Given the description of an element on the screen output the (x, y) to click on. 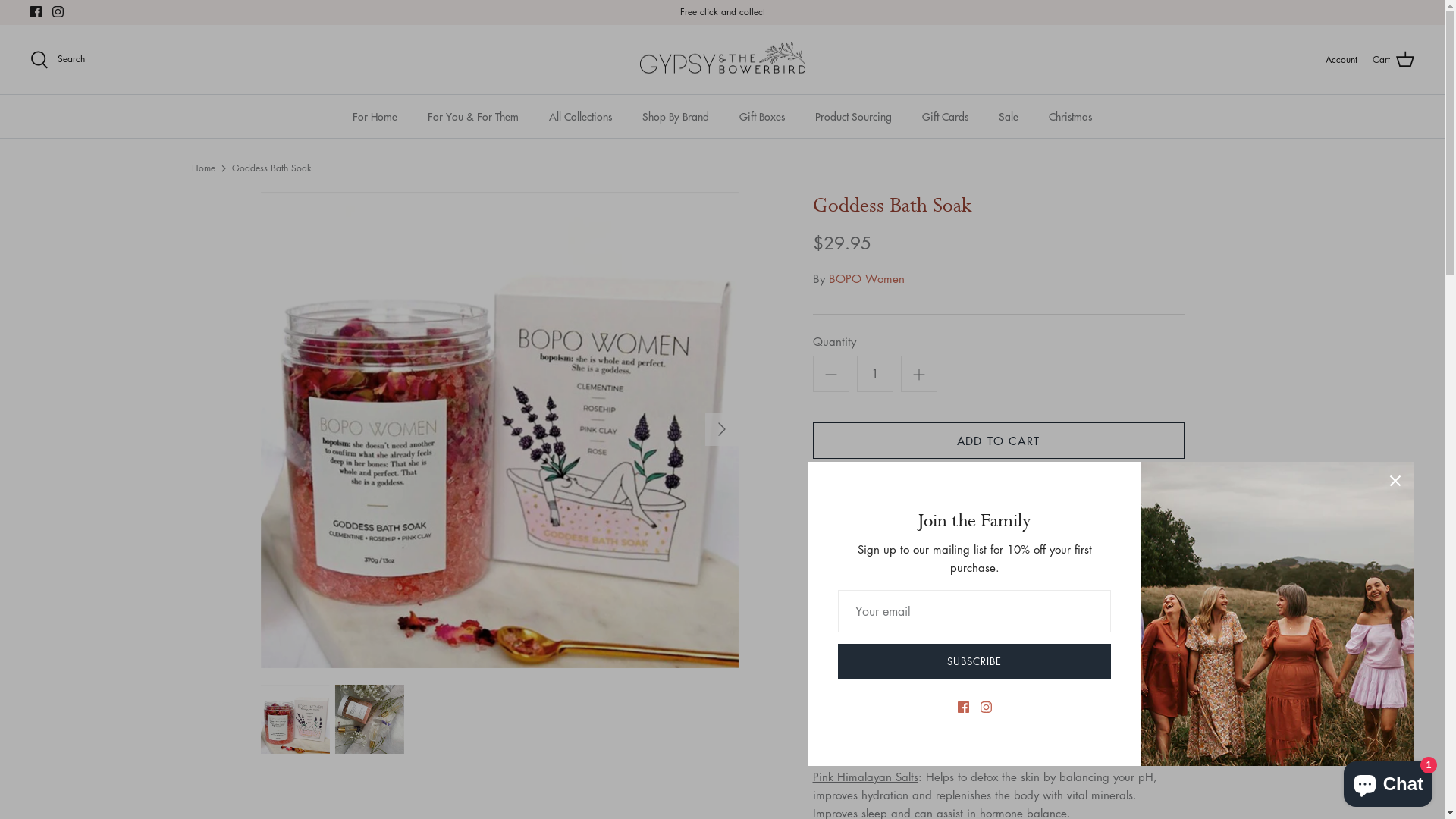
All Collections Element type: text (580, 116)
For You & For Them Element type: text (473, 116)
Gift Boxes Element type: text (761, 116)
Plus Element type: text (918, 373)
Minus Element type: text (830, 373)
Facebook Element type: text (35, 11)
Product Sourcing Element type: text (853, 116)
Gift Cards Element type: text (945, 116)
Gypsy and the Bowerbird Element type: hover (721, 59)
Home Element type: text (202, 167)
Christmas Element type: text (1070, 116)
For Home Element type: text (374, 116)
Search Element type: text (57, 59)
Shop By Brand Element type: text (675, 116)
More payment options Element type: text (998, 526)
View store information Element type: text (879, 596)
Shopify online store chat Element type: hover (1388, 780)
BOPO Women Element type: text (865, 277)
Cart Element type: text (1393, 59)
Account Element type: text (1341, 59)
RIGHT Element type: text (721, 428)
Sale Element type: text (1008, 116)
Instagram Element type: text (57, 11)
SUBSCRIBE Element type: text (973, 660)
Goddess Bath Soak Element type: text (271, 167)
ADD TO CART Element type: text (998, 440)
